Given the description of an element on the screen output the (x, y) to click on. 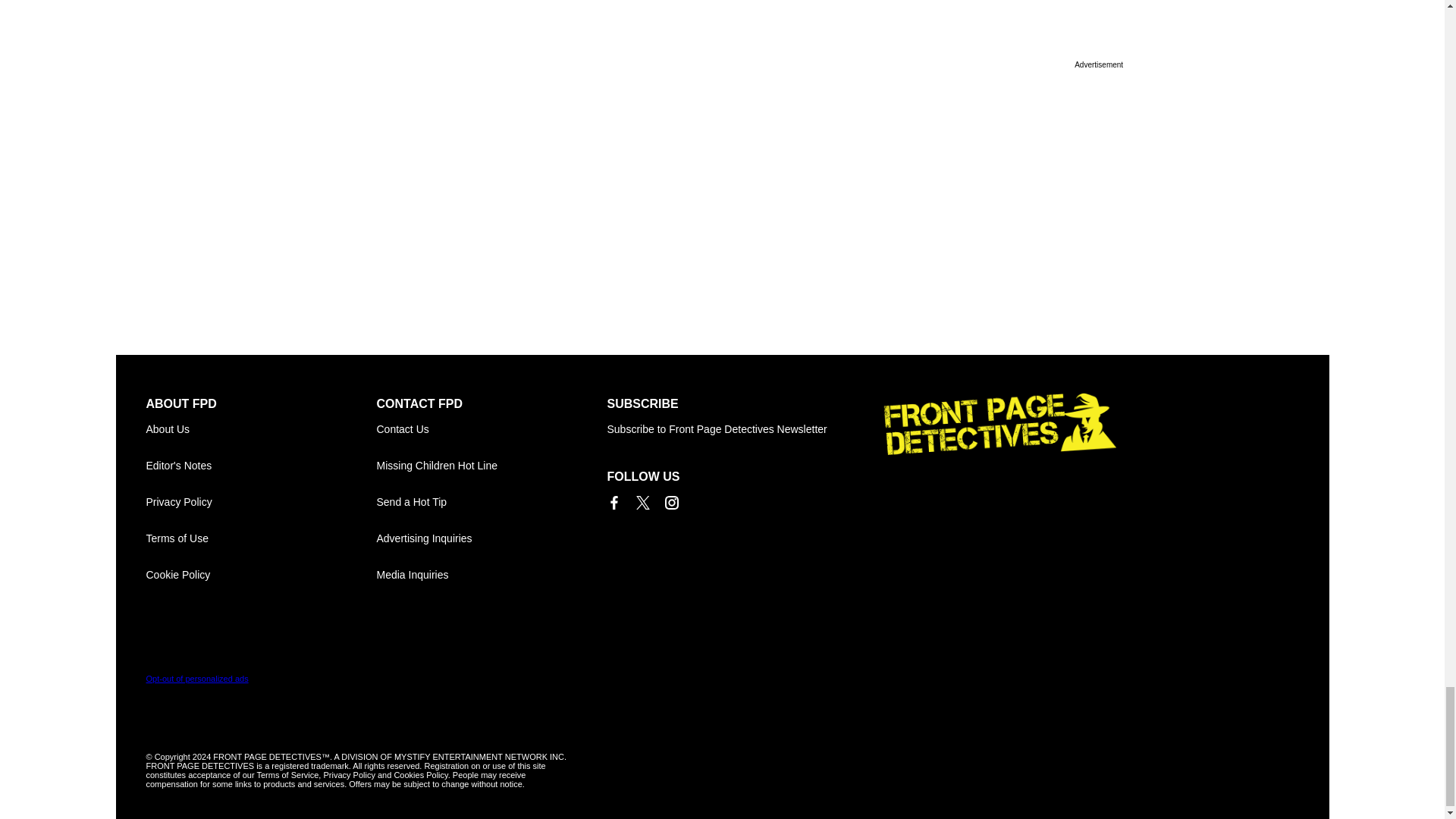
Privacy Policy (260, 502)
Contact Us (491, 429)
Link to Instagram (670, 502)
About Front Page Detectives (260, 429)
Link to X (641, 502)
Cookie Policy (260, 574)
Send a Hot Tip (491, 502)
Missing Children Hot Line (491, 465)
Editor's Notes (260, 465)
Link to Facebook (613, 502)
